Given the description of an element on the screen output the (x, y) to click on. 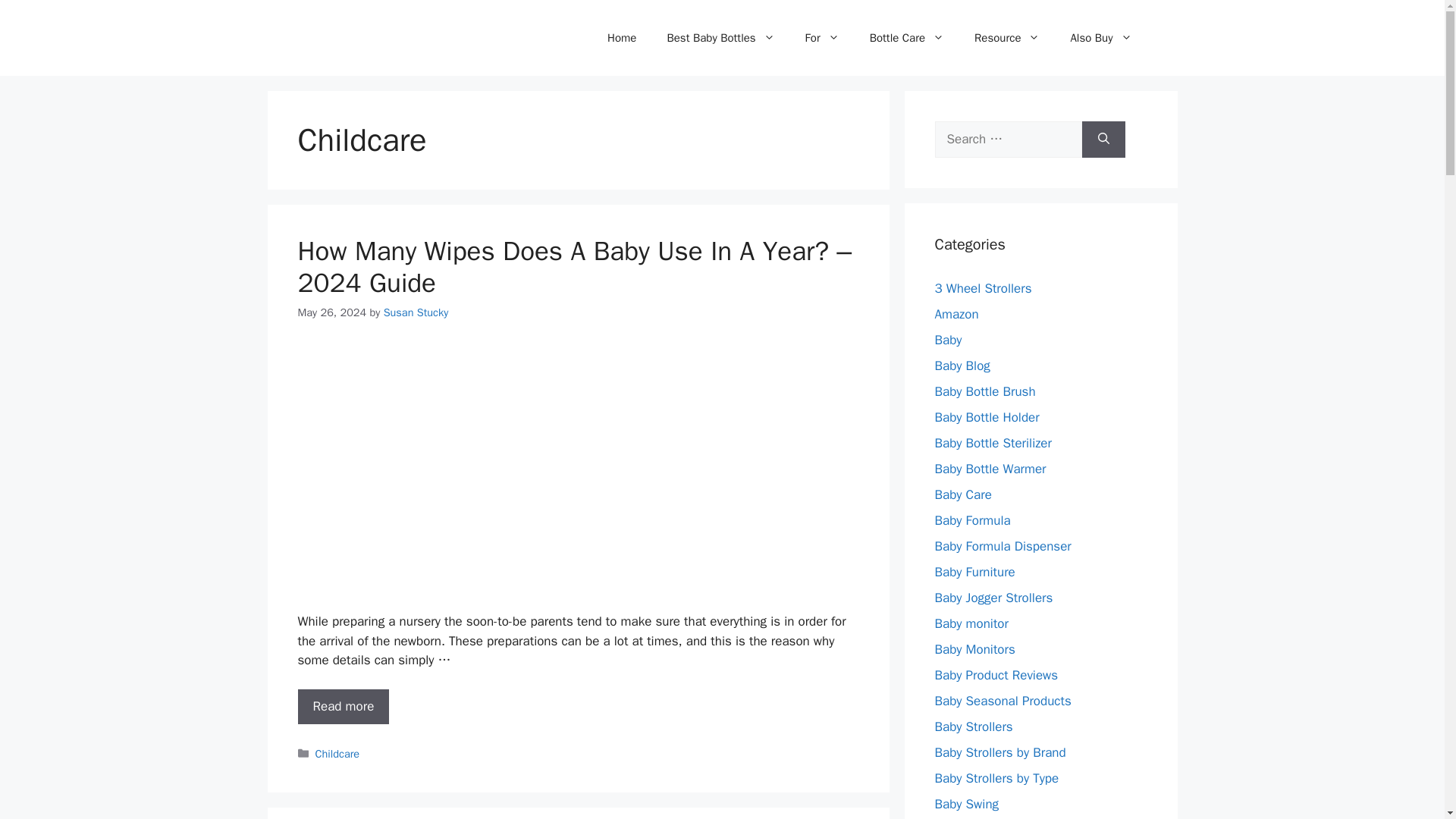
For (822, 37)
View all posts by Susan Stucky (416, 312)
Read more (342, 706)
Home (621, 37)
Search for: (1007, 139)
Best Baby Bottles (719, 37)
Bottle Care (906, 37)
Childcare (337, 753)
Resource (1006, 37)
Susan Stucky (416, 312)
Also Buy (1100, 37)
